Given the description of an element on the screen output the (x, y) to click on. 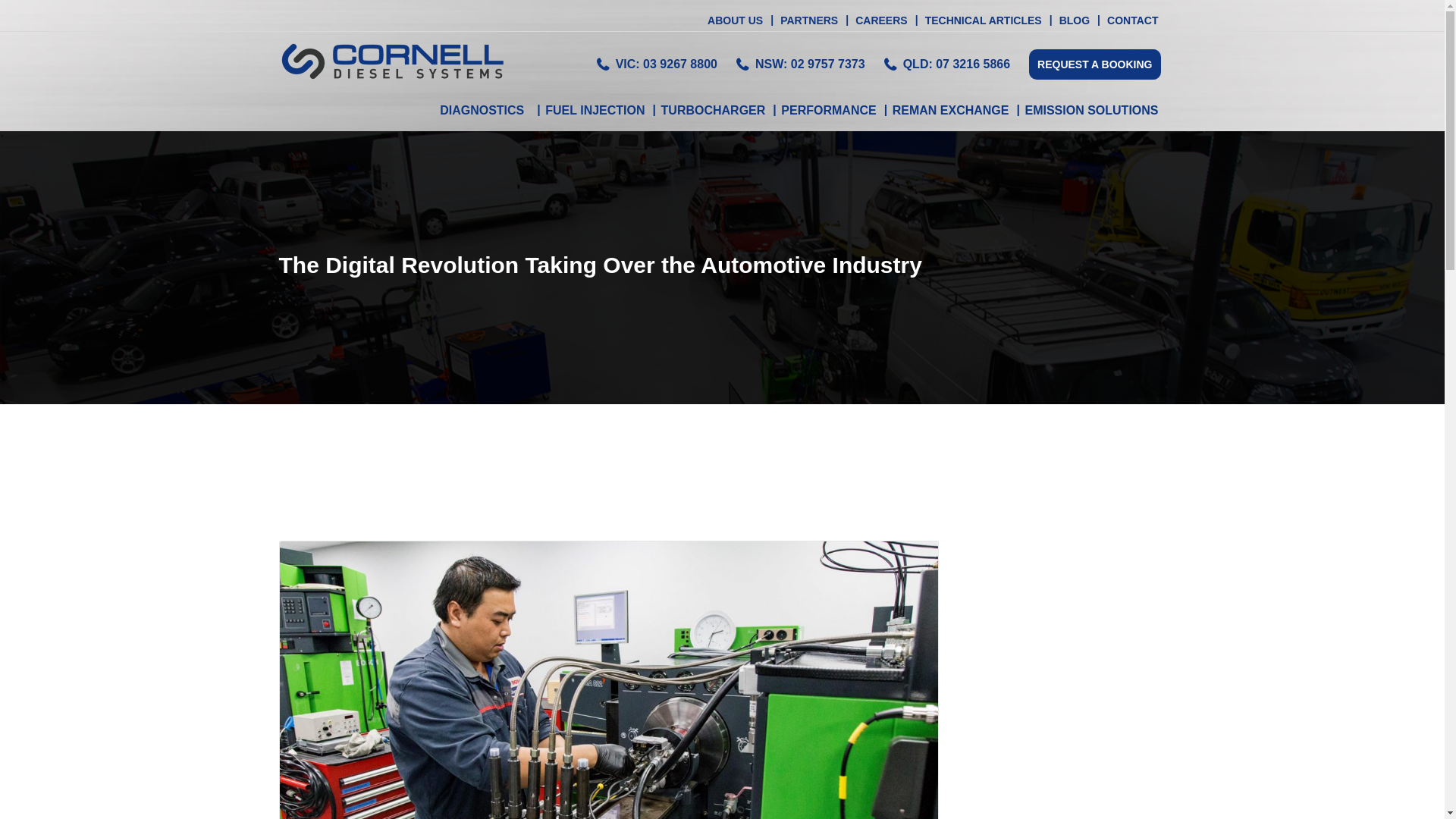
REQUEST A BOOKING Element type: text (1094, 64)
ABOUT US Element type: text (733, 22)
CAREERS Element type: text (879, 22)
CONTACT Element type: text (1131, 22)
VIC: 03 9267 8800 Element type: text (666, 63)
BLOG Element type: text (1073, 22)
FUEL INJECTION Element type: text (594, 111)
DIAGNOSTICS Element type: text (487, 111)
TURBOCHARGER Element type: text (712, 111)
QLD: 07 3216 5866 Element type: text (956, 63)
EMISSION SOLUTIONS Element type: text (1090, 111)
PARTNERS Element type: text (807, 22)
REMAN EXCHANGE Element type: text (950, 111)
NSW: 02 9757 7373 Element type: text (810, 63)
TECHNICAL ARTICLES Element type: text (982, 22)
PERFORMANCE Element type: text (827, 111)
